Given the description of an element on the screen output the (x, y) to click on. 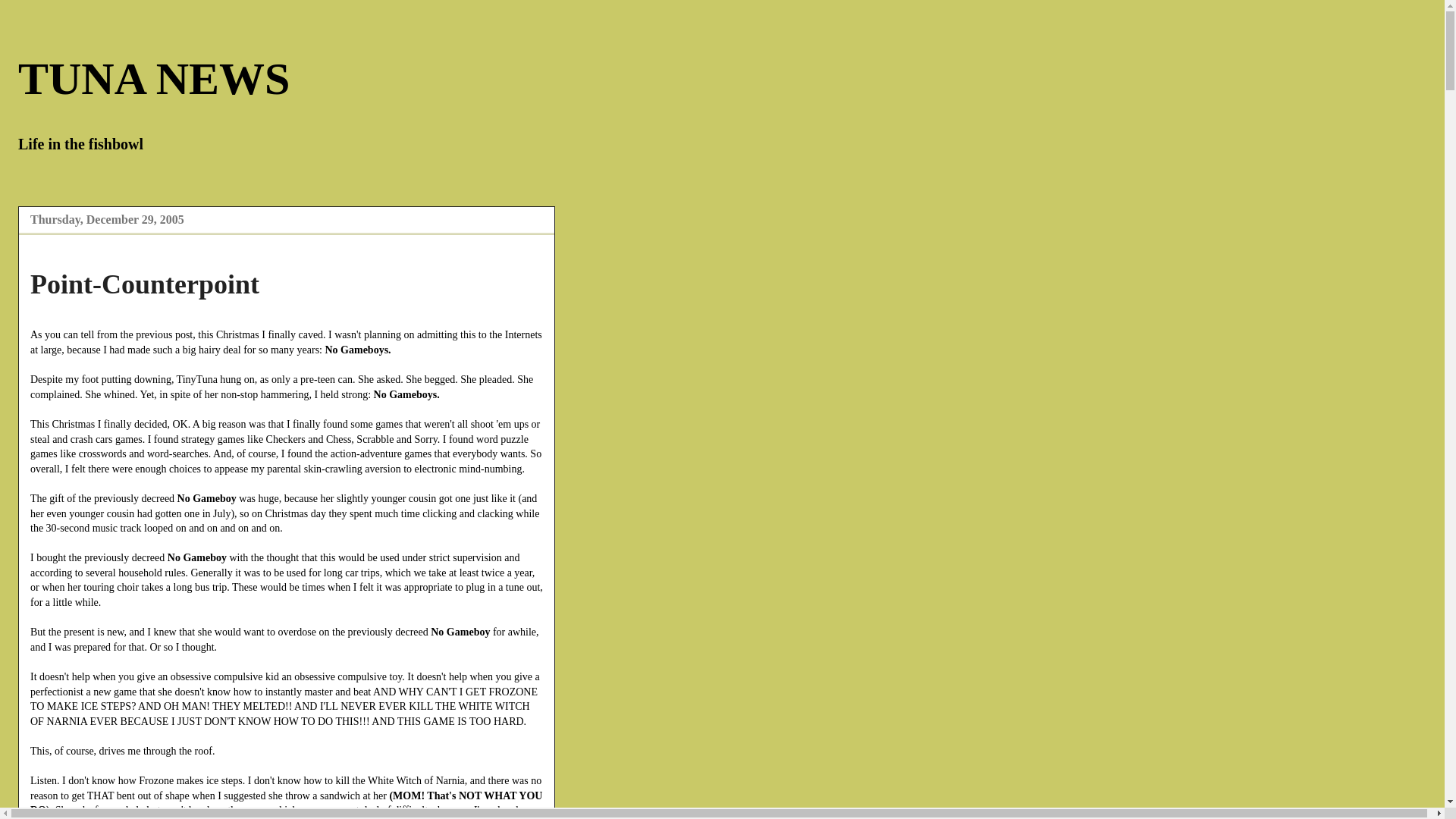
TUNA NEWS (153, 79)
